Given the description of an element on the screen output the (x, y) to click on. 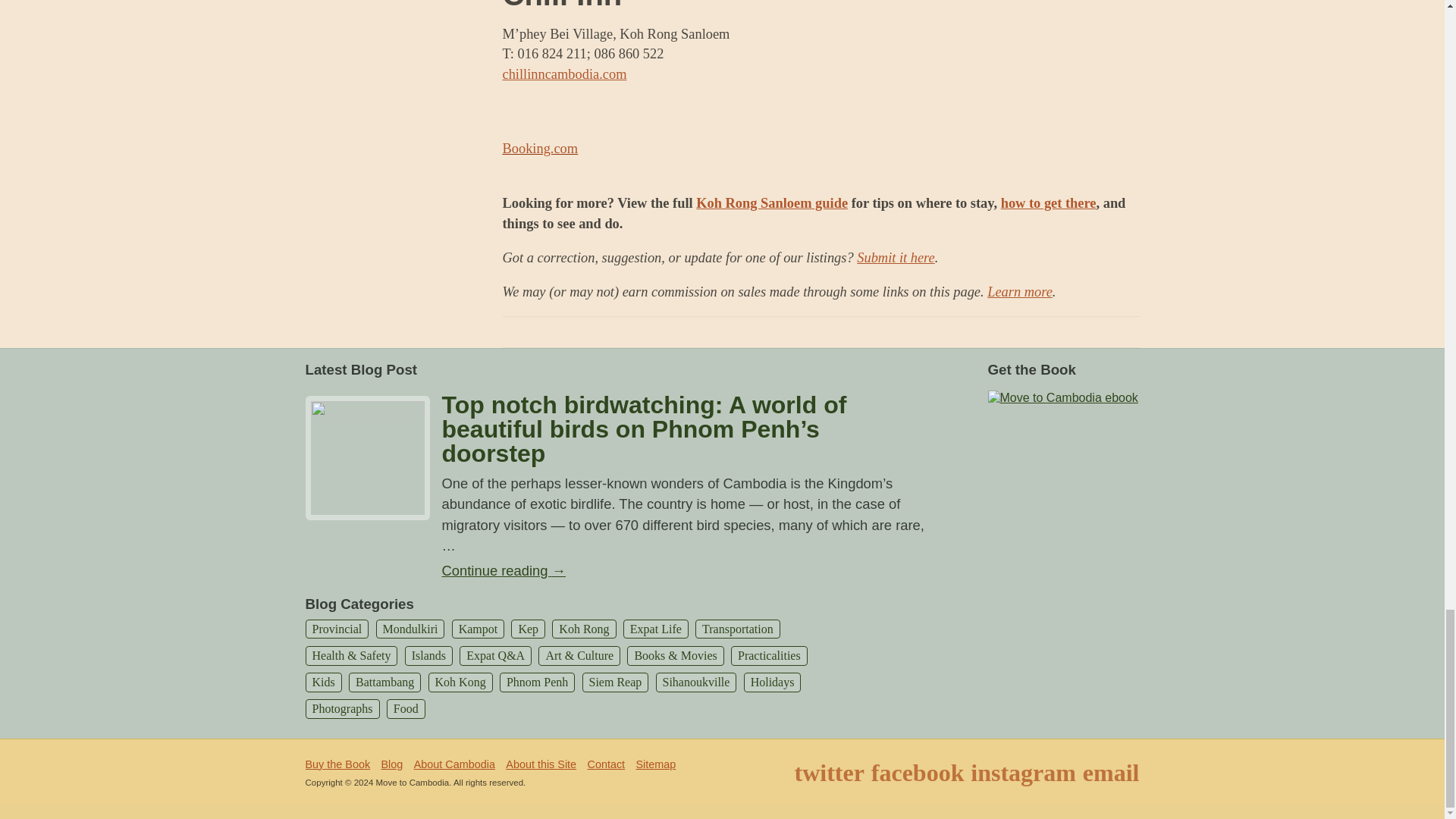
Submit it here (895, 257)
Booking.com (540, 148)
Follow Move to Cambodia on Twitter! (829, 772)
Koh Rong (583, 628)
Kampot (478, 628)
Like Move to Cambodia on Facebook! (916, 772)
Kep (527, 628)
Mondulkiri (410, 628)
how to get there (1048, 202)
Learn more (1019, 291)
